Given the description of an element on the screen output the (x, y) to click on. 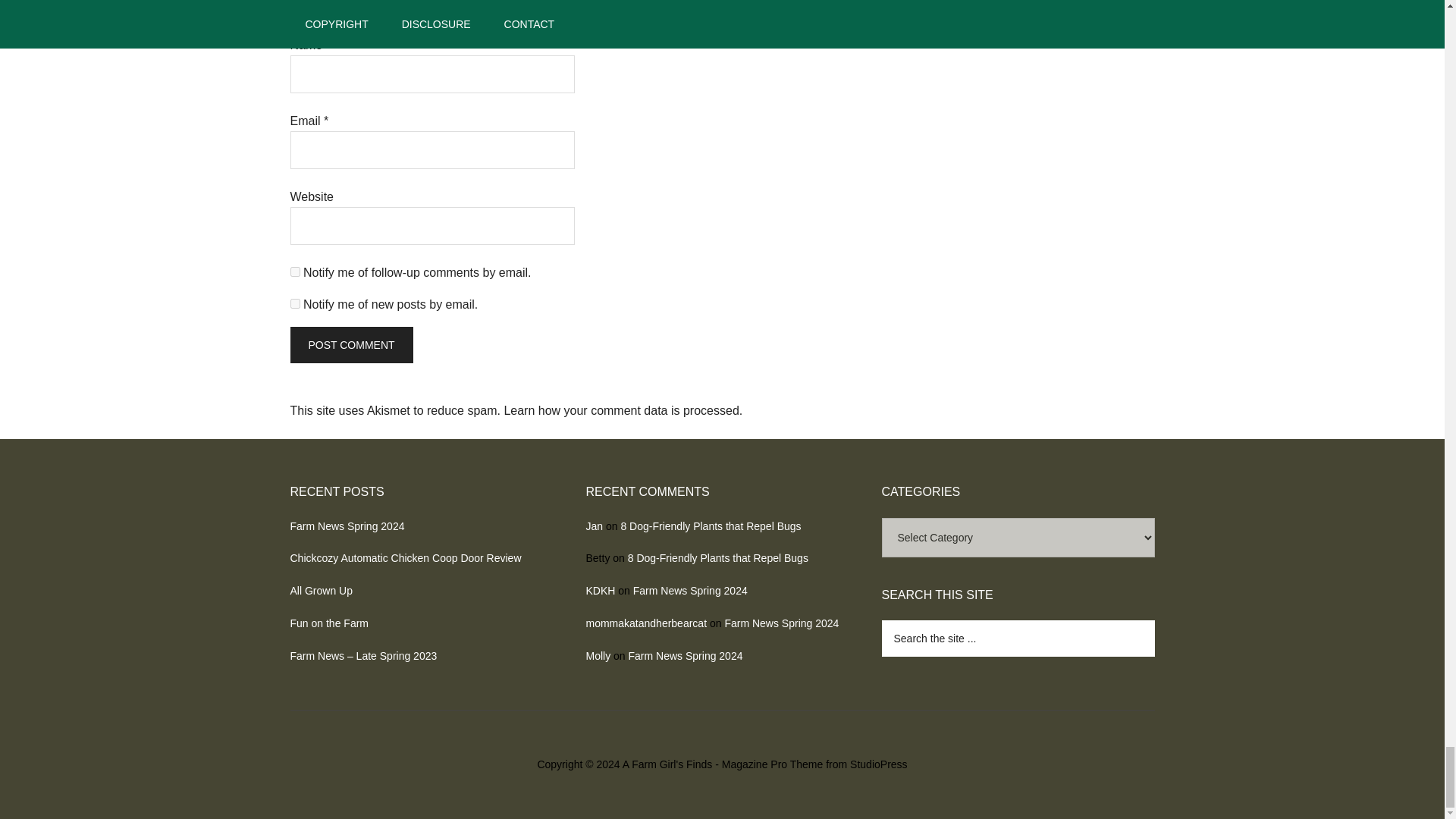
subscribe (294, 303)
subscribe (294, 271)
Post Comment (350, 344)
